Given the description of an element on the screen output the (x, y) to click on. 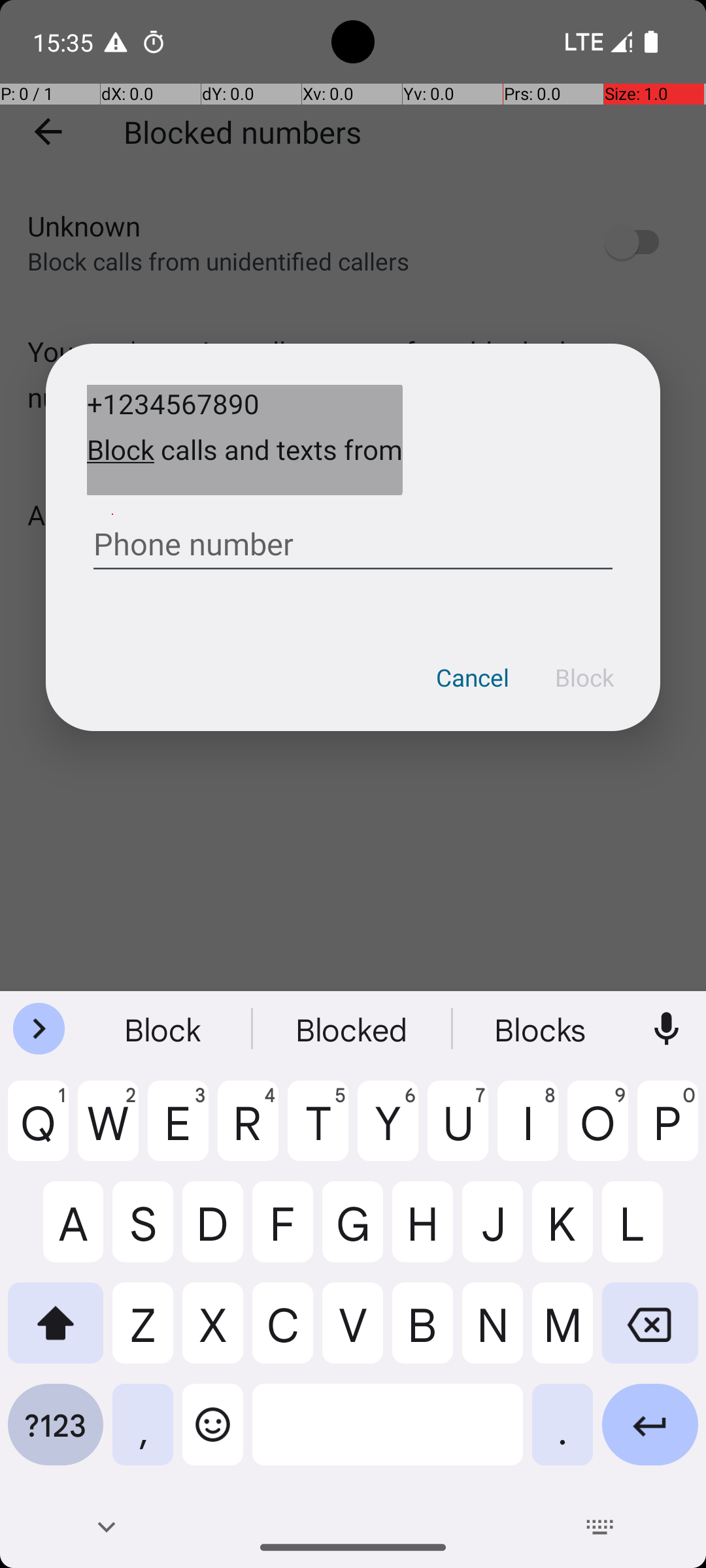
+1234567890
Block calls and texts from Element type: android.widget.TextView (244, 439)
Phone number Element type: android.widget.EditText (352, 538)
Block Element type: android.widget.Button (584, 677)
Switch input method Element type: android.widget.ImageView (599, 1526)
Open features menu Element type: android.widget.FrameLayout (39, 1028)
Blocked Element type: android.widget.FrameLayout (352, 1028)
Blocks Element type: android.widget.FrameLayout (541, 1028)
Voice input Element type: android.widget.FrameLayout (666, 1028)
Q Element type: android.widget.FrameLayout (38, 1130)
W Element type: android.widget.FrameLayout (108, 1130)
E Element type: android.widget.FrameLayout (178, 1130)
R Element type: android.widget.FrameLayout (248, 1130)
T Element type: android.widget.FrameLayout (318, 1130)
Y Element type: android.widget.FrameLayout (387, 1130)
U Element type: android.widget.FrameLayout (457, 1130)
I Element type: android.widget.FrameLayout (527, 1130)
O Element type: android.widget.FrameLayout (597, 1130)
P Element type: android.widget.FrameLayout (667, 1130)
A Element type: android.widget.FrameLayout (55, 1231)
S Element type: android.widget.FrameLayout (142, 1231)
D Element type: android.widget.FrameLayout (212, 1231)
F Element type: android.widget.FrameLayout (282, 1231)
G Element type: android.widget.FrameLayout (352, 1231)
H Element type: android.widget.FrameLayout (422, 1231)
J Element type: android.widget.FrameLayout (492, 1231)
K Element type: android.widget.FrameLayout (562, 1231)
L Element type: android.widget.FrameLayout (649, 1231)
Shift Element type: android.widget.FrameLayout (55, 1332)
Z Element type: android.widget.FrameLayout (142, 1332)
X Element type: android.widget.FrameLayout (212, 1332)
C Element type: android.widget.FrameLayout (282, 1332)
V Element type: android.widget.FrameLayout (352, 1332)
B Element type: android.widget.FrameLayout (422, 1332)
N Element type: android.widget.FrameLayout (492, 1332)
M Element type: android.widget.FrameLayout (562, 1332)
Symbol keyboard Element type: android.widget.FrameLayout (55, 1434)
, Element type: android.widget.FrameLayout (142, 1434)
Emoji button Element type: android.widget.FrameLayout (212, 1434)
Space Element type: android.widget.FrameLayout (387, 1434)
. Element type: android.widget.FrameLayout (562, 1434)
Enter Element type: android.widget.FrameLayout (649, 1434)
15:35 Element type: android.widget.TextView (64, 41)
